Given the description of an element on the screen output the (x, y) to click on. 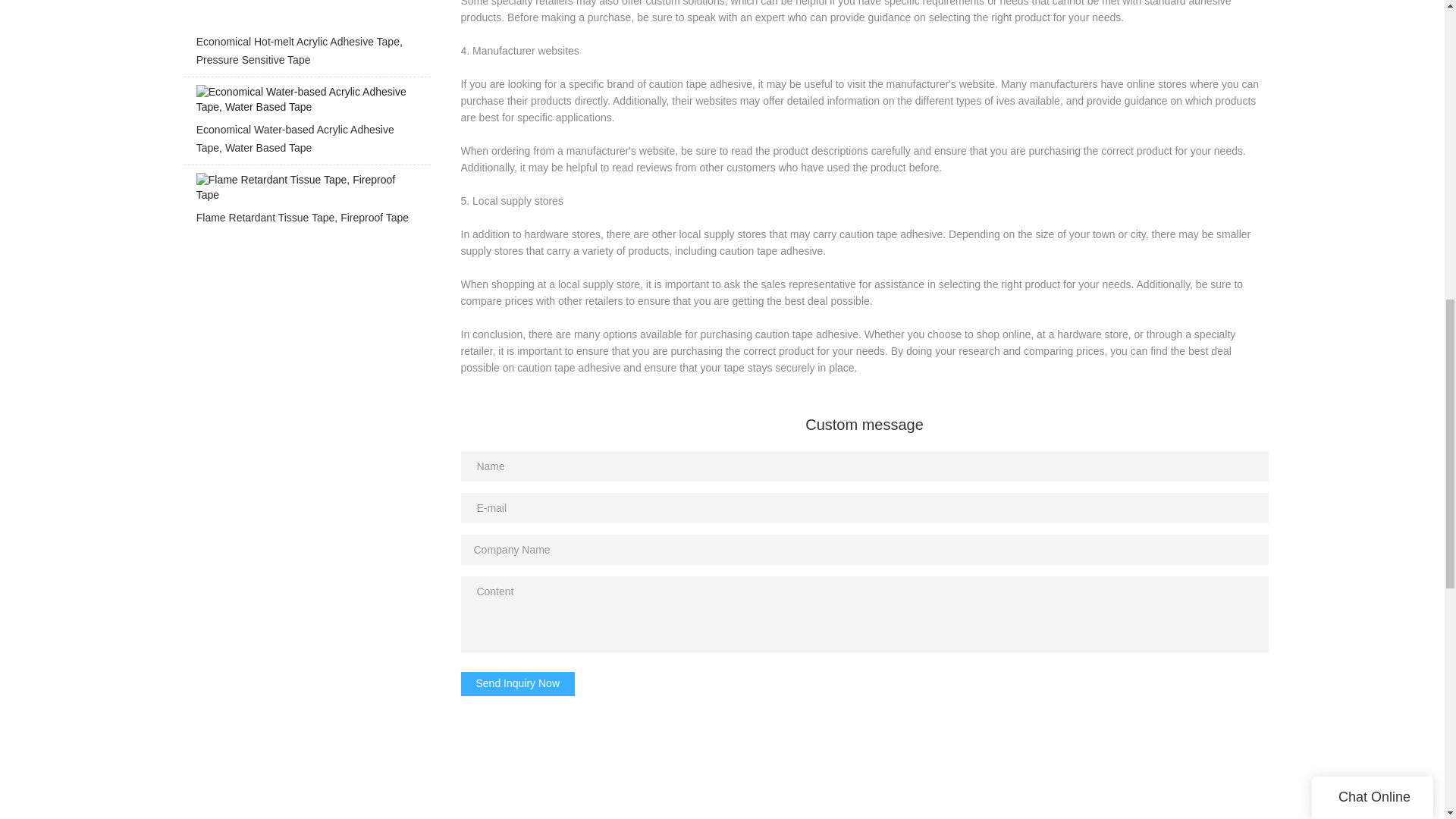
Flame Retardant Tissue Tape, Fireproof Tape (306, 203)
Send Inquiry Now (518, 683)
